Given the description of an element on the screen output the (x, y) to click on. 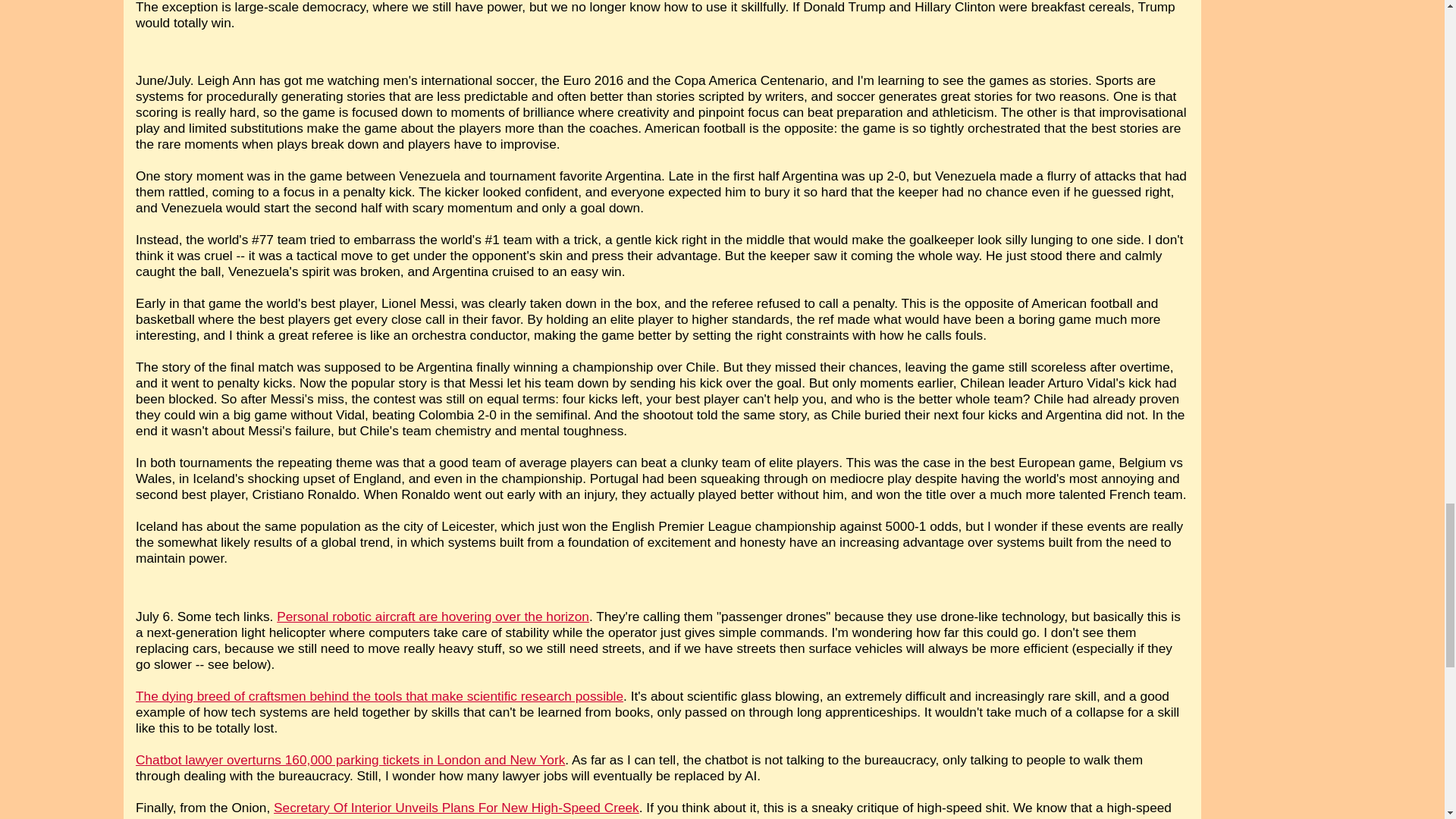
Personal robotic aircraft are hovering over the horizon (432, 616)
Secretary Of Interior Unveils Plans For New High-Speed Creek (456, 807)
